Given the description of an element on the screen output the (x, y) to click on. 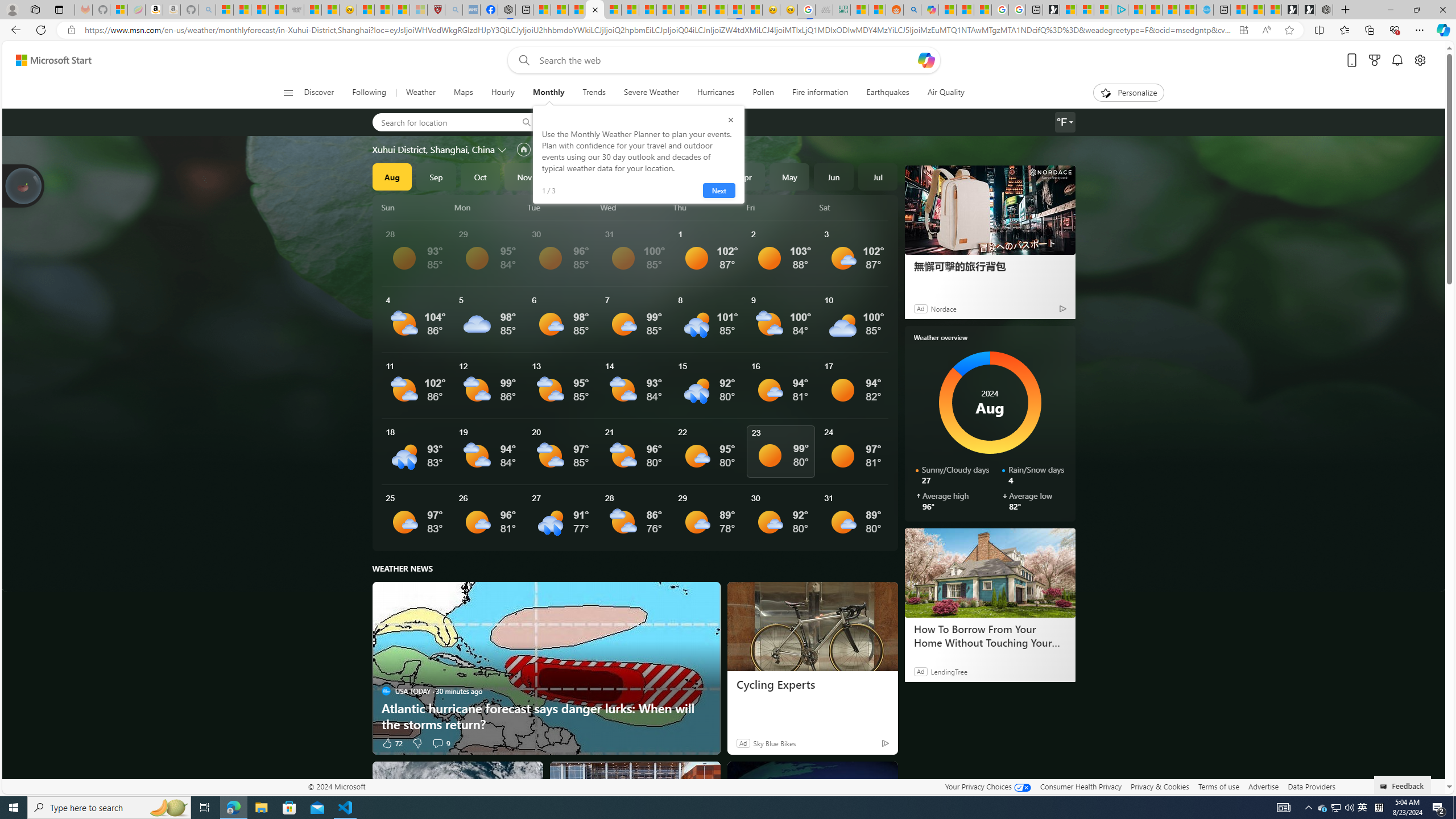
Sky Blue Bikes (773, 742)
Jul (877, 176)
Consumer Health Privacy (1080, 785)
